Given the description of an element on the screen output the (x, y) to click on. 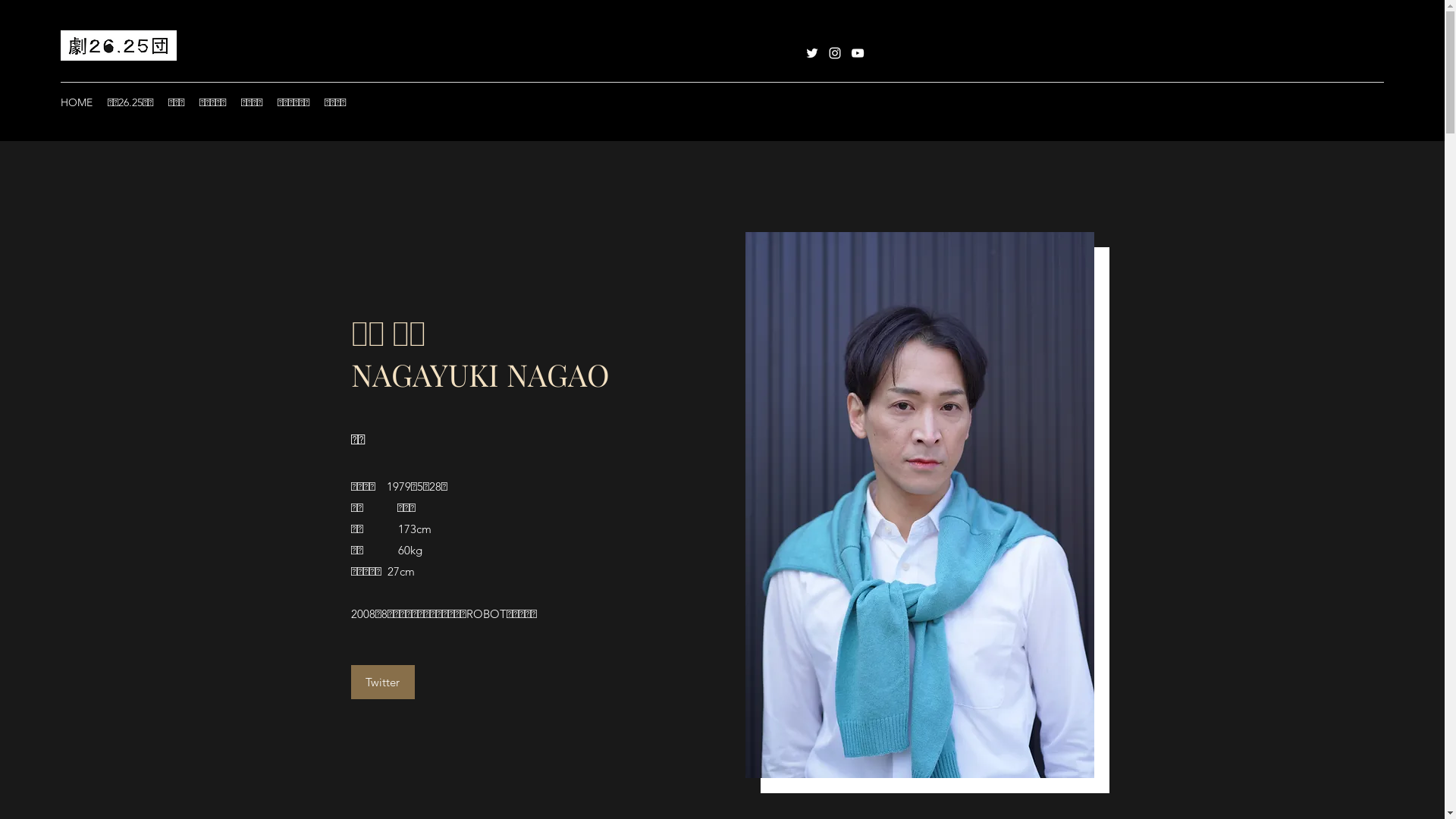
Twitter Element type: text (382, 682)
HOME Element type: text (76, 102)
